Given the description of an element on the screen output the (x, y) to click on. 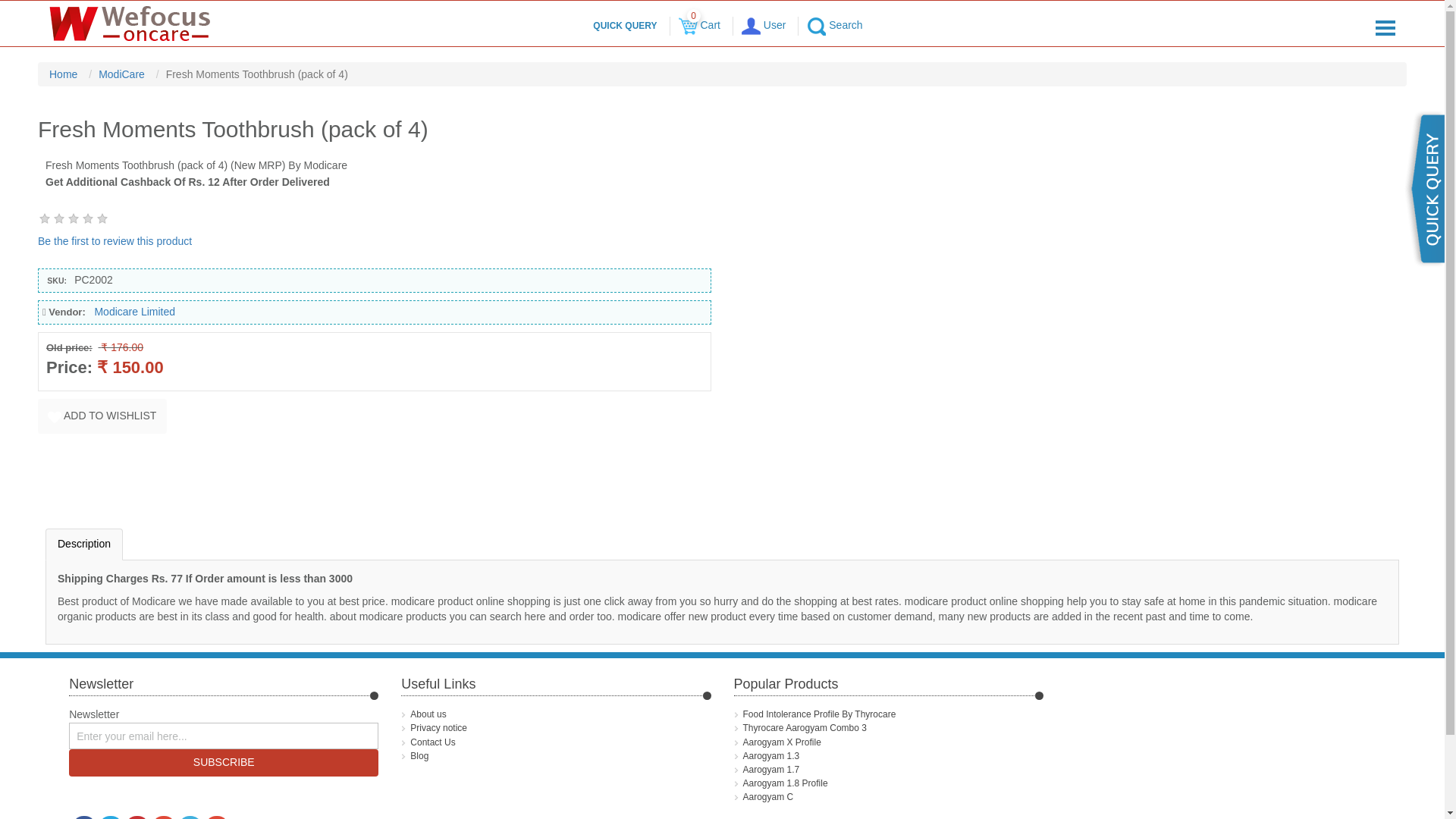
QUICK QUERY (624, 25)
User Links (750, 26)
Home (65, 74)
Modicare Limited (134, 311)
Be the first to review this product (114, 241)
User (763, 24)
User Search (815, 26)
Add to wishlist (102, 416)
ModiCare (123, 74)
Cart (699, 24)
Cart (687, 26)
Subscribe (223, 762)
Search (834, 24)
